Given the description of an element on the screen output the (x, y) to click on. 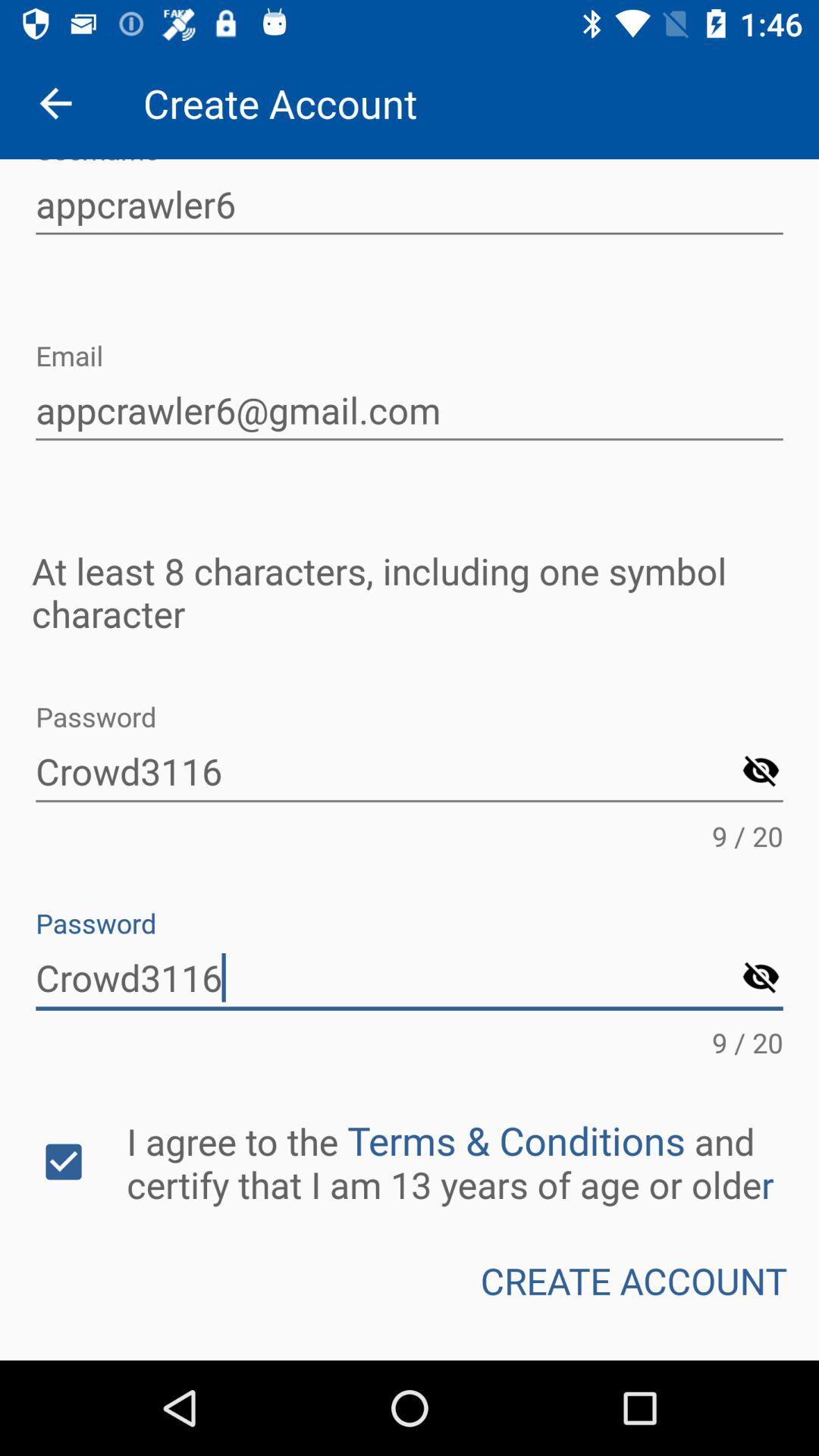
show the password (761, 978)
